Given the description of an element on the screen output the (x, y) to click on. 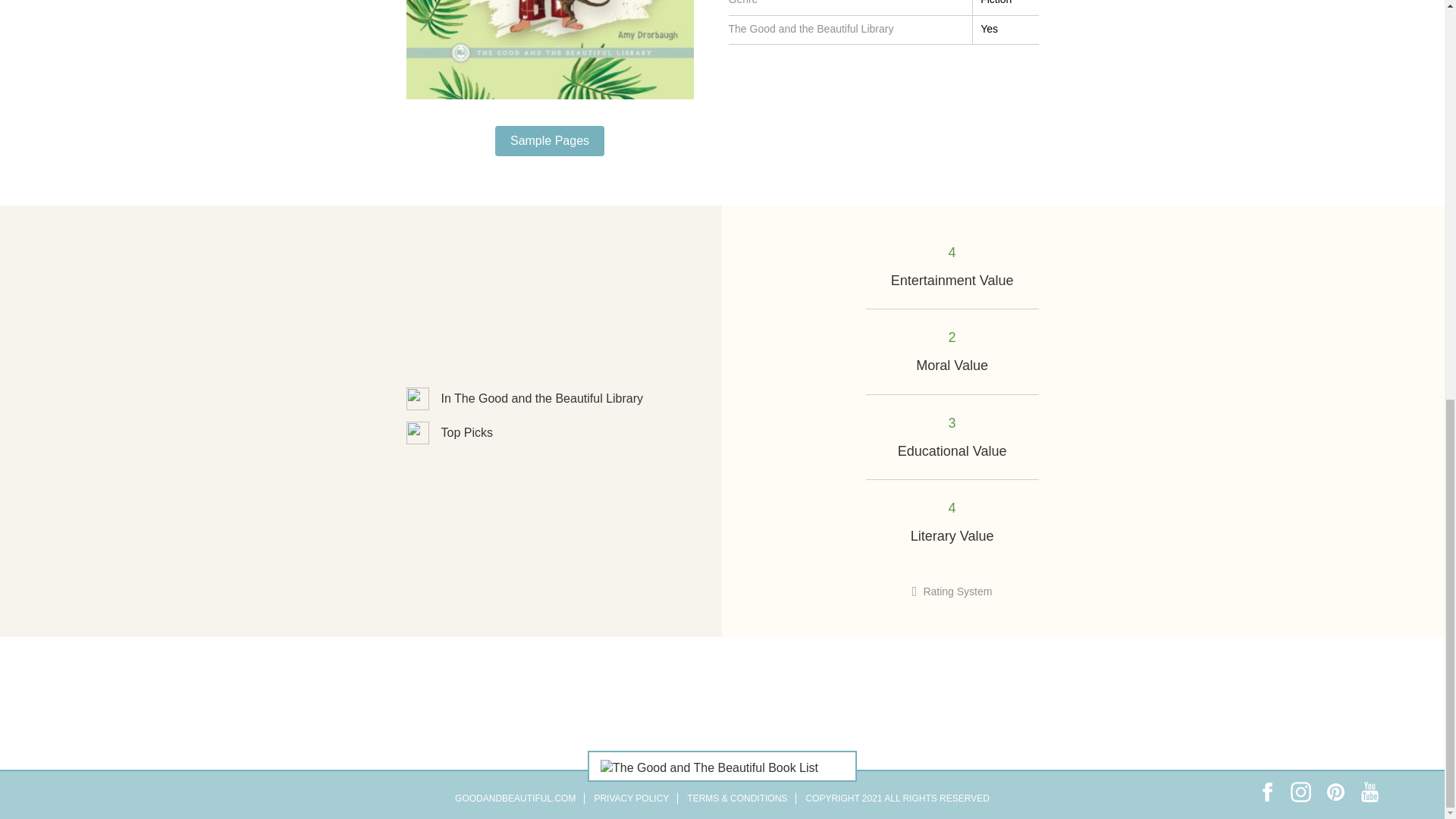
GOODANDBEAUTIFUL.COM (514, 798)
youtube (1369, 792)
Sample Pages (549, 141)
instagram (1300, 792)
pinterest (1334, 792)
PRIVACY POLICY (631, 798)
facebook (1266, 791)
